Given the description of an element on the screen output the (x, y) to click on. 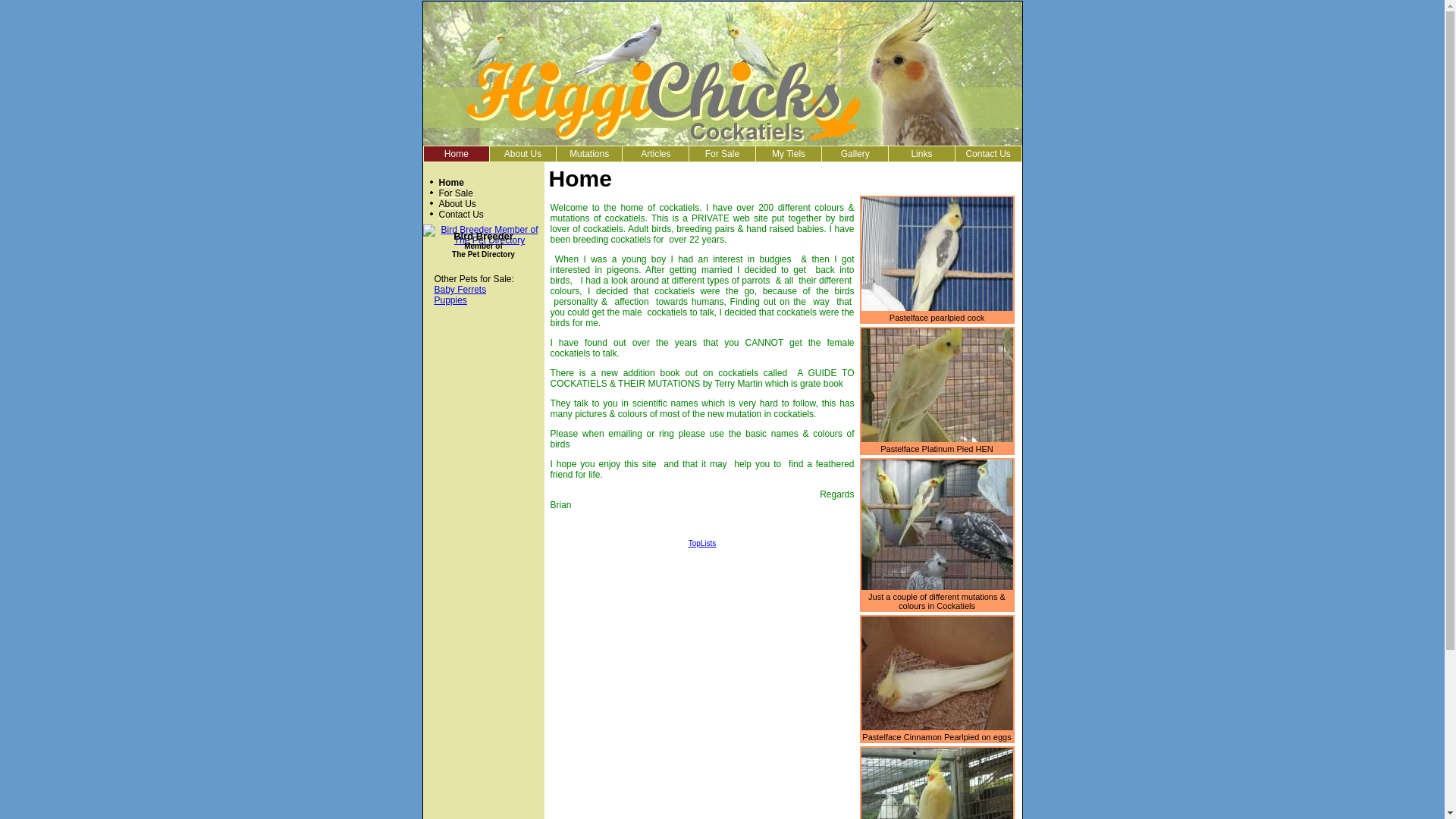
TopLists Element type: text (702, 543)
Bird Breeder Element type: text (483, 235)
Gallery Element type: text (854, 153)
Links Element type: text (921, 153)
Home Element type: text (456, 153)
Home Element type: text (456, 153)
About Us Element type: text (522, 153)
Articles Element type: text (655, 153)
For Sale Element type: text (722, 153)
Contact Us Element type: text (460, 214)
Bird Breeder Member of The Pet Directory Element type: hover (483, 234)
Home Element type: text (450, 182)
Puppies Element type: text (449, 299)
Bird Breeder Member of The Pet Directory Element type: hover (483, 240)
Mutations Element type: text (588, 153)
Contact Us Element type: text (988, 153)
For Sale Element type: text (455, 193)
Contact Us Element type: text (987, 153)
The Pet Directory Element type: text (482, 254)
My Tiels Element type: text (789, 153)
Baby Ferrets Element type: text (459, 289)
Links Element type: text (920, 153)
About Us Element type: text (456, 203)
Mutations Element type: text (589, 153)
For Sale Element type: text (722, 153)
Articles Element type: text (655, 153)
My Tiels Element type: text (788, 153)
About Us Element type: text (522, 153)
Gallery Element type: text (855, 153)
